Given the description of an element on the screen output the (x, y) to click on. 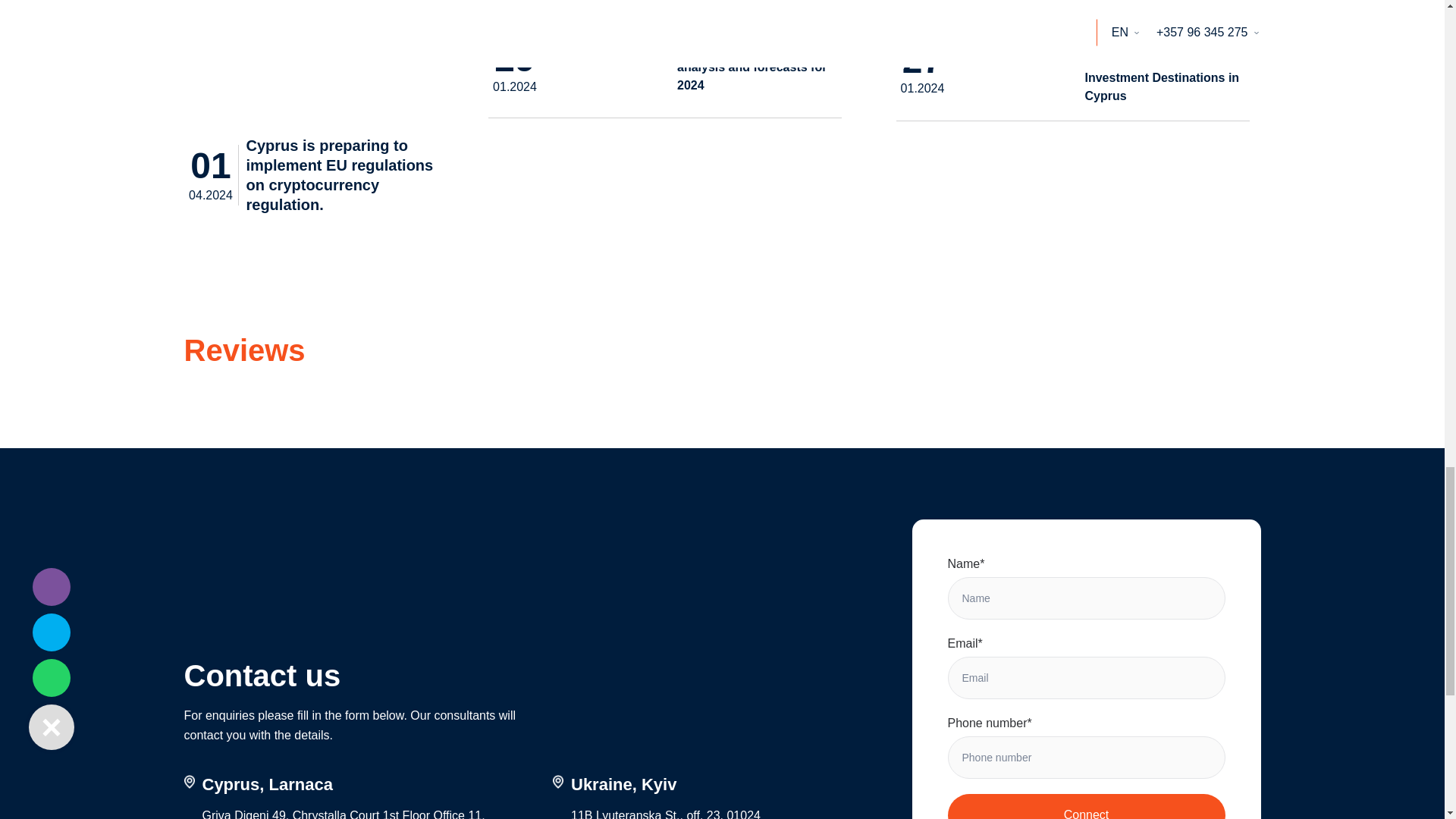
Connect (1086, 806)
Cyprus real estate market analysis and forecasts for 2024 (609, 67)
